Given the description of an element on the screen output the (x, y) to click on. 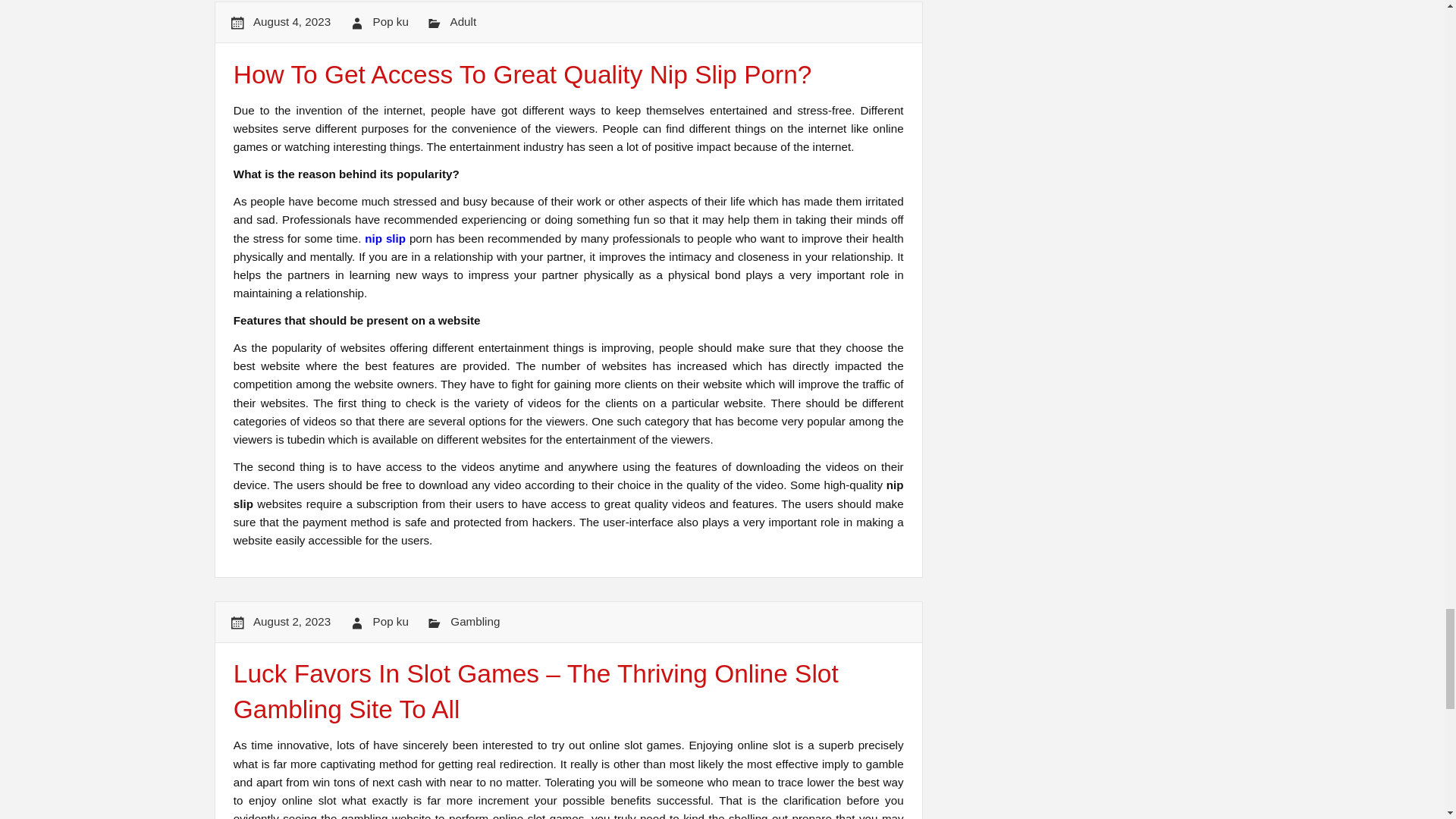
View all posts by Pop ku (390, 21)
10:42 am (291, 21)
11:28 am (291, 621)
View all posts by Pop ku (390, 621)
